Given the description of an element on the screen output the (x, y) to click on. 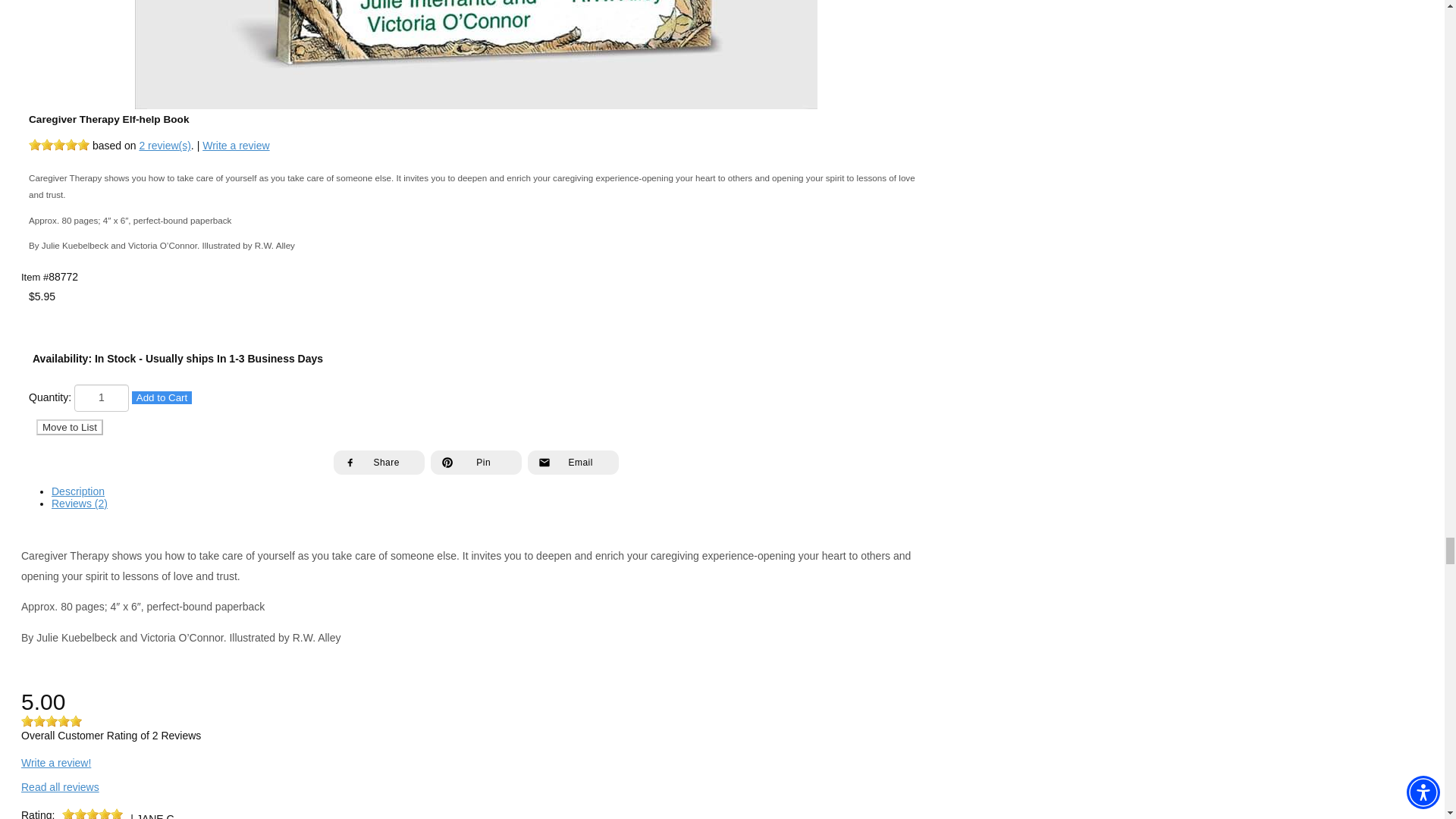
Caregiver Therapy Elf-help Book (475, 54)
Move to List (69, 426)
PayPal Message 1 (476, 311)
Add to Cart (162, 397)
1 (101, 397)
